Given the description of an element on the screen output the (x, y) to click on. 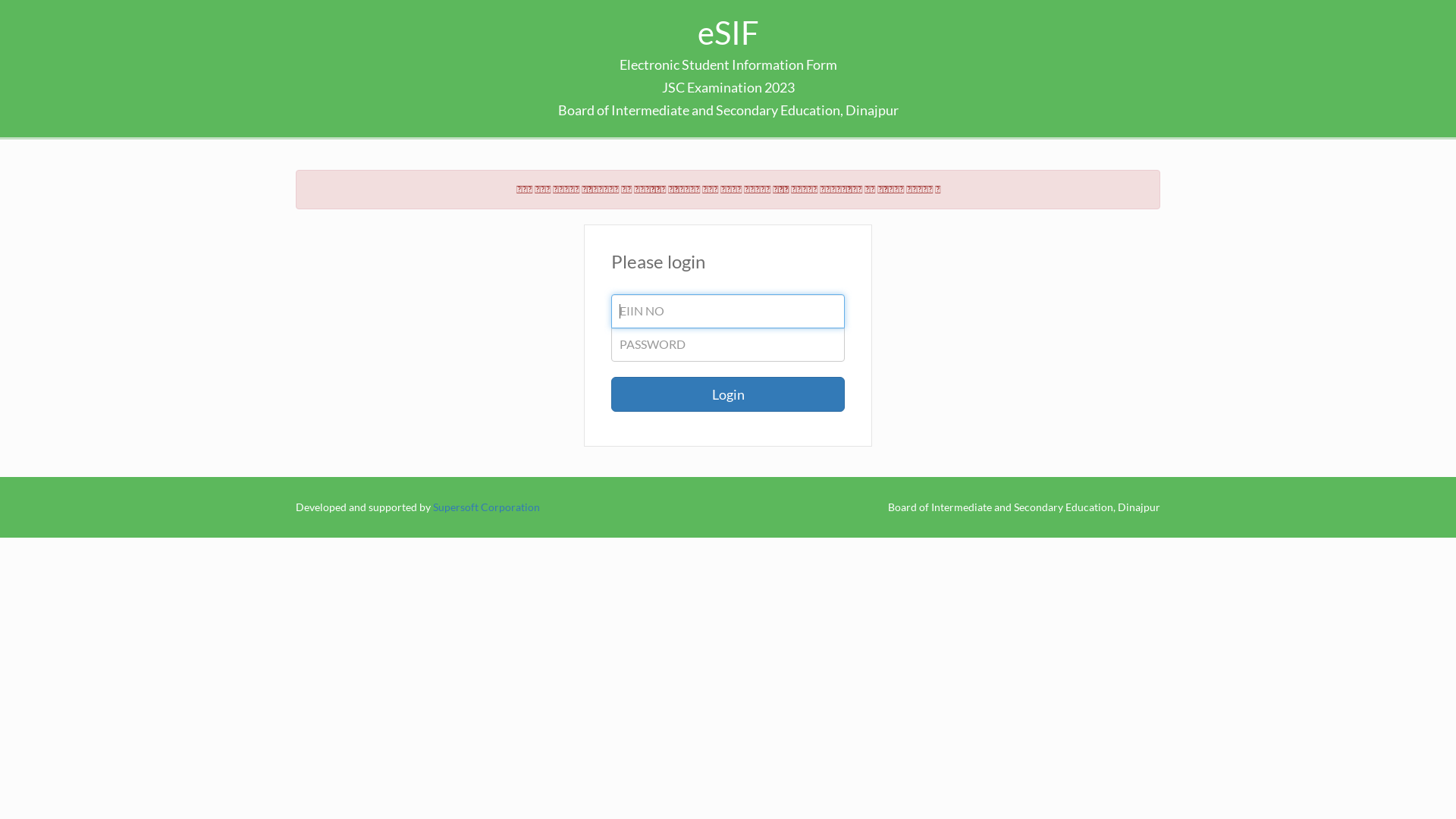
Supersoft Corporation Element type: text (486, 506)
Login Element type: text (727, 393)
